Given the description of an element on the screen output the (x, y) to click on. 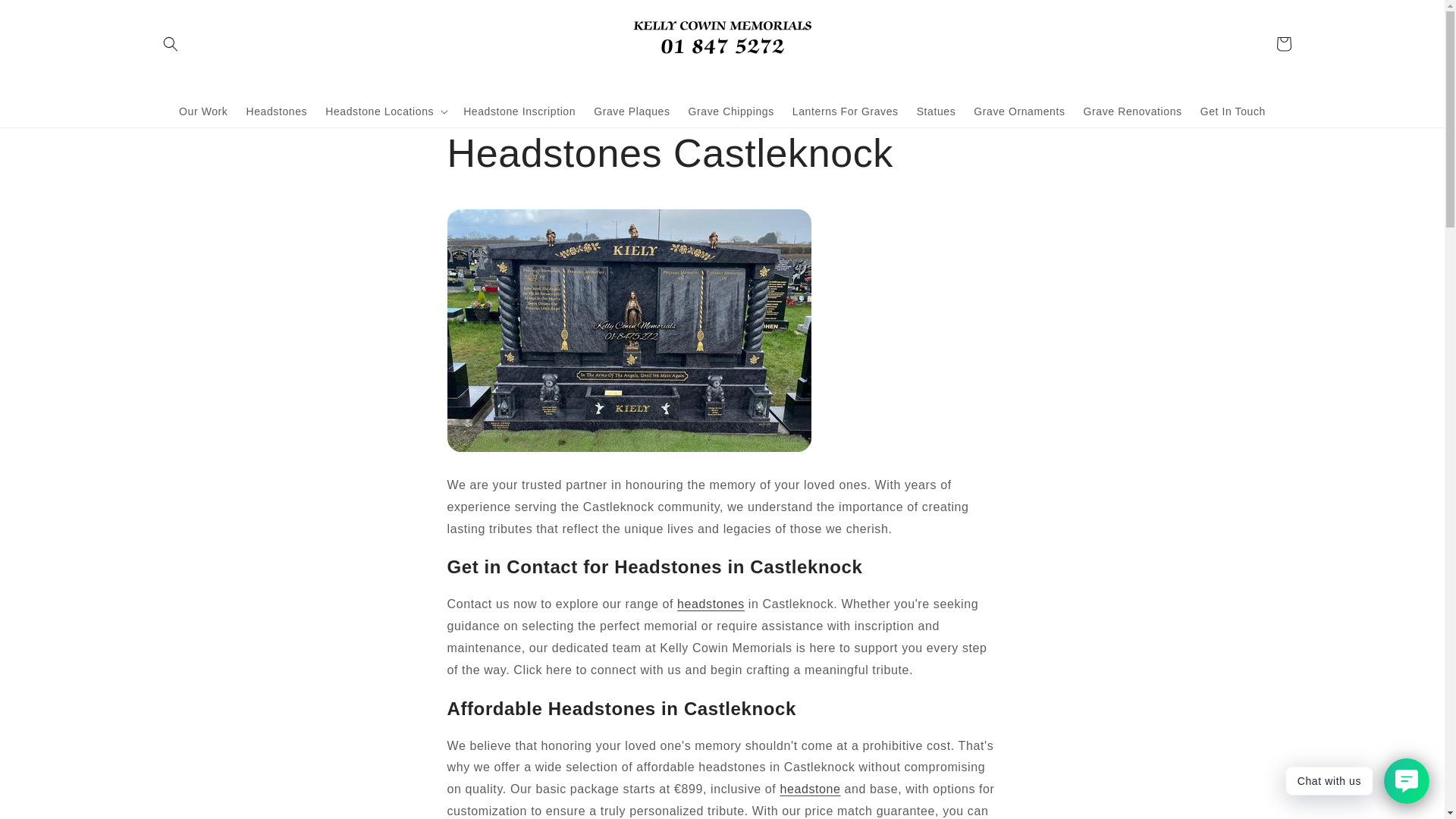
Grave Plaques (631, 111)
Our Work (202, 111)
headstones (710, 603)
Headstones (275, 111)
headstones (809, 788)
Headstone Inscription (519, 111)
Skip to content (46, 18)
